Given the description of an element on the screen output the (x, y) to click on. 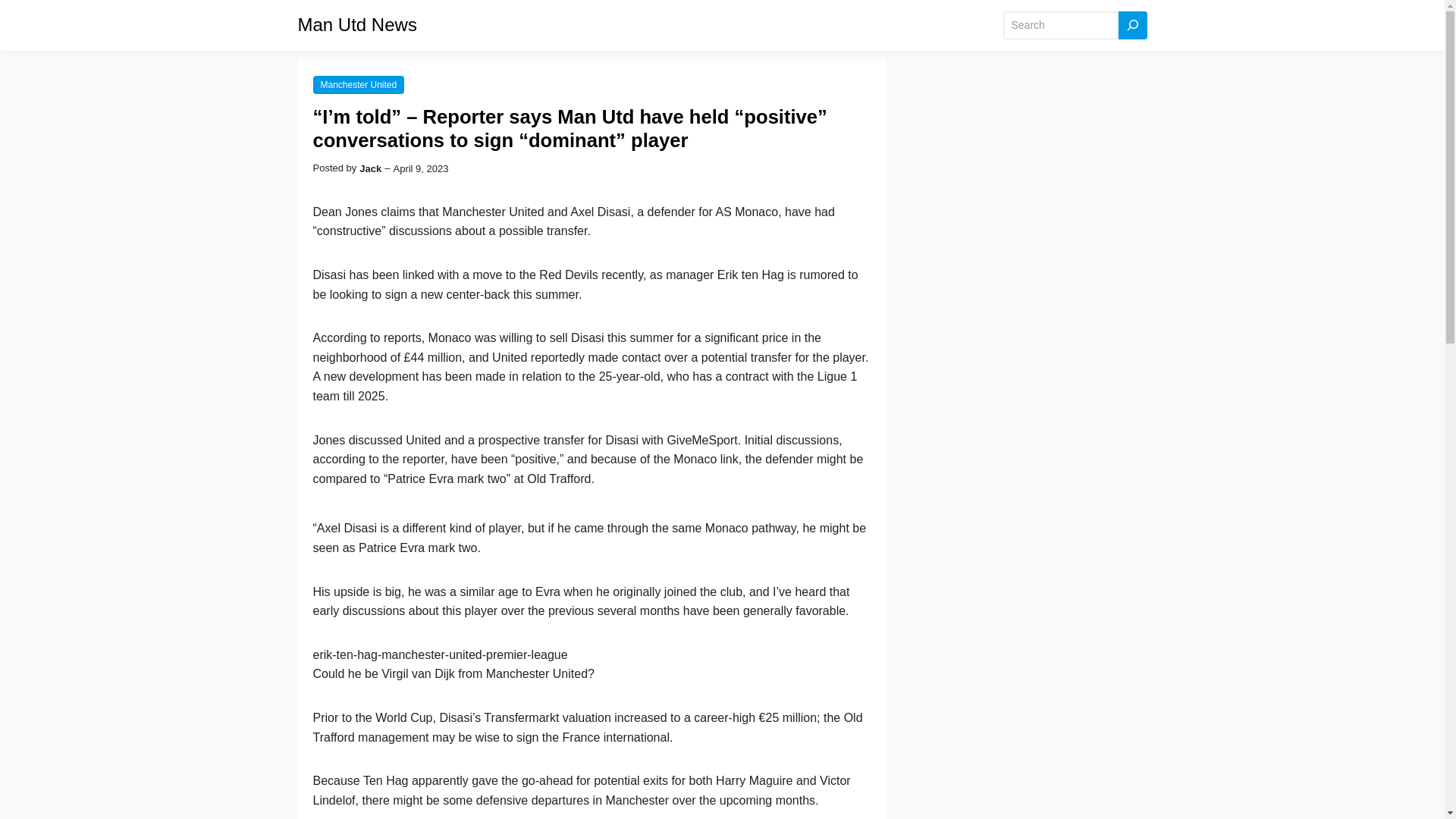
Manchester United (358, 85)
Man Utd News (356, 24)
